Given the description of an element on the screen output the (x, y) to click on. 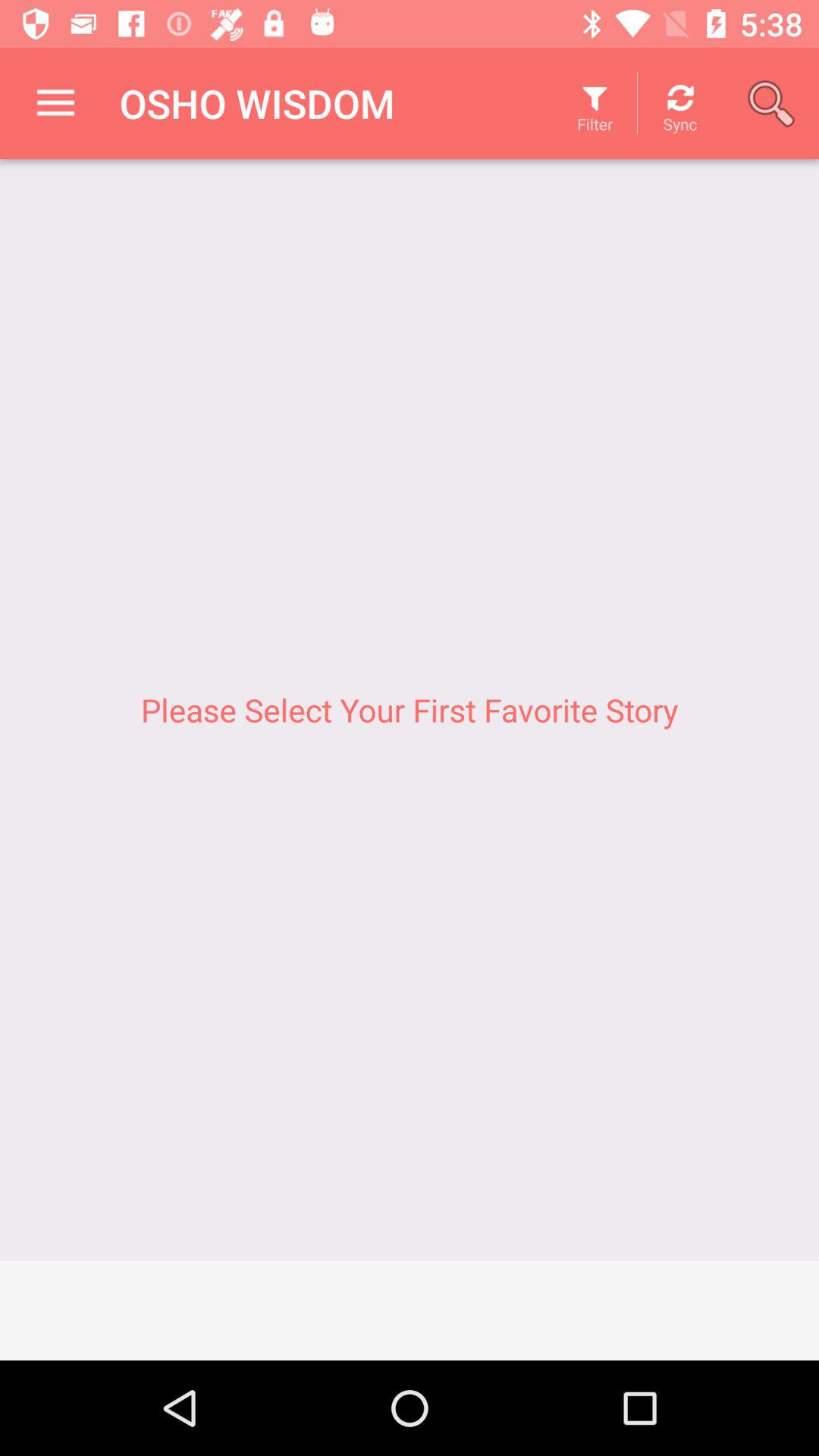
select the app to the left of osho wisdom app (55, 103)
